Given the description of an element on the screen output the (x, y) to click on. 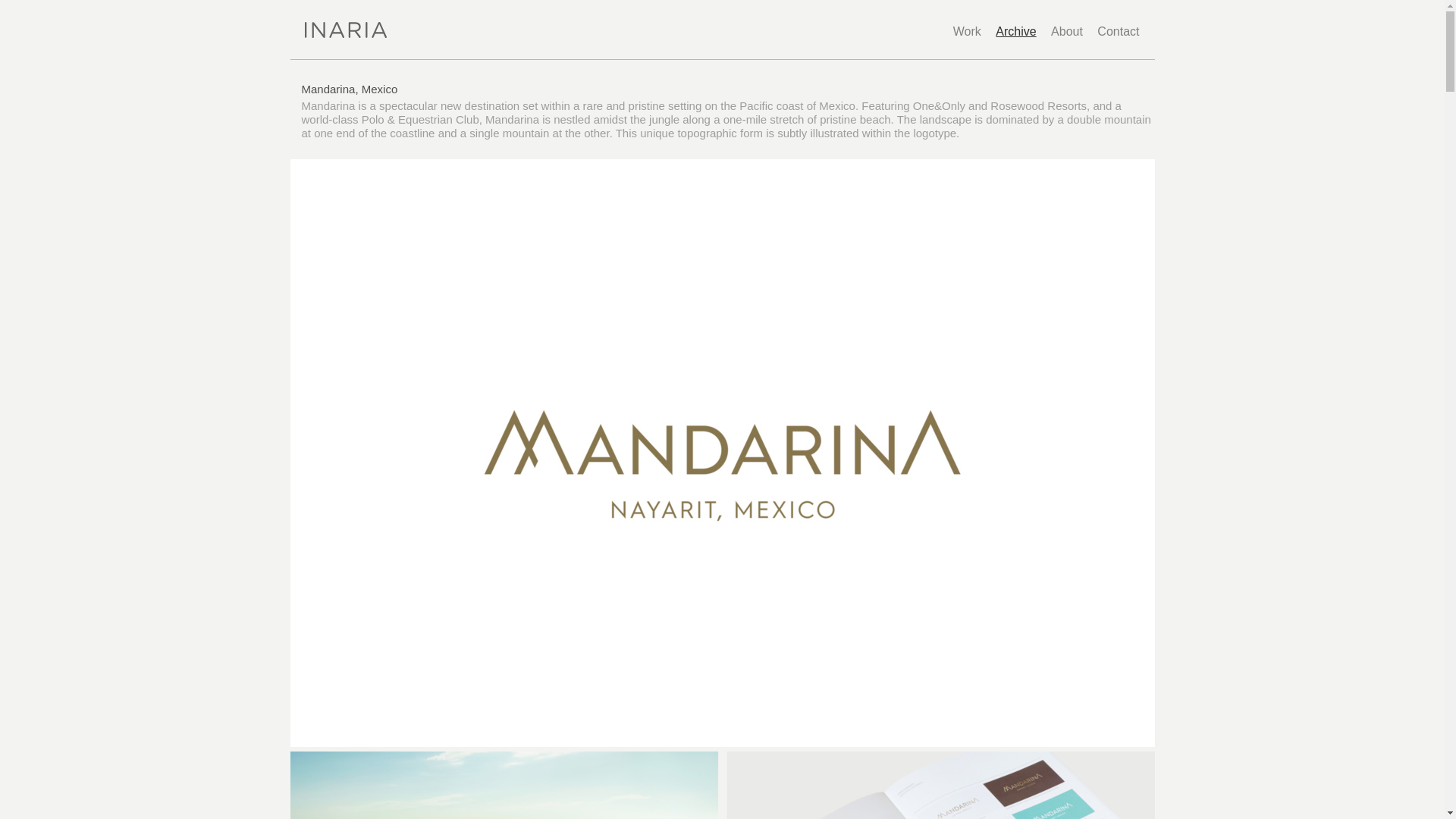
About (1067, 31)
Archive (1015, 31)
Contact (1117, 31)
Work (967, 31)
